Given the description of an element on the screen output the (x, y) to click on. 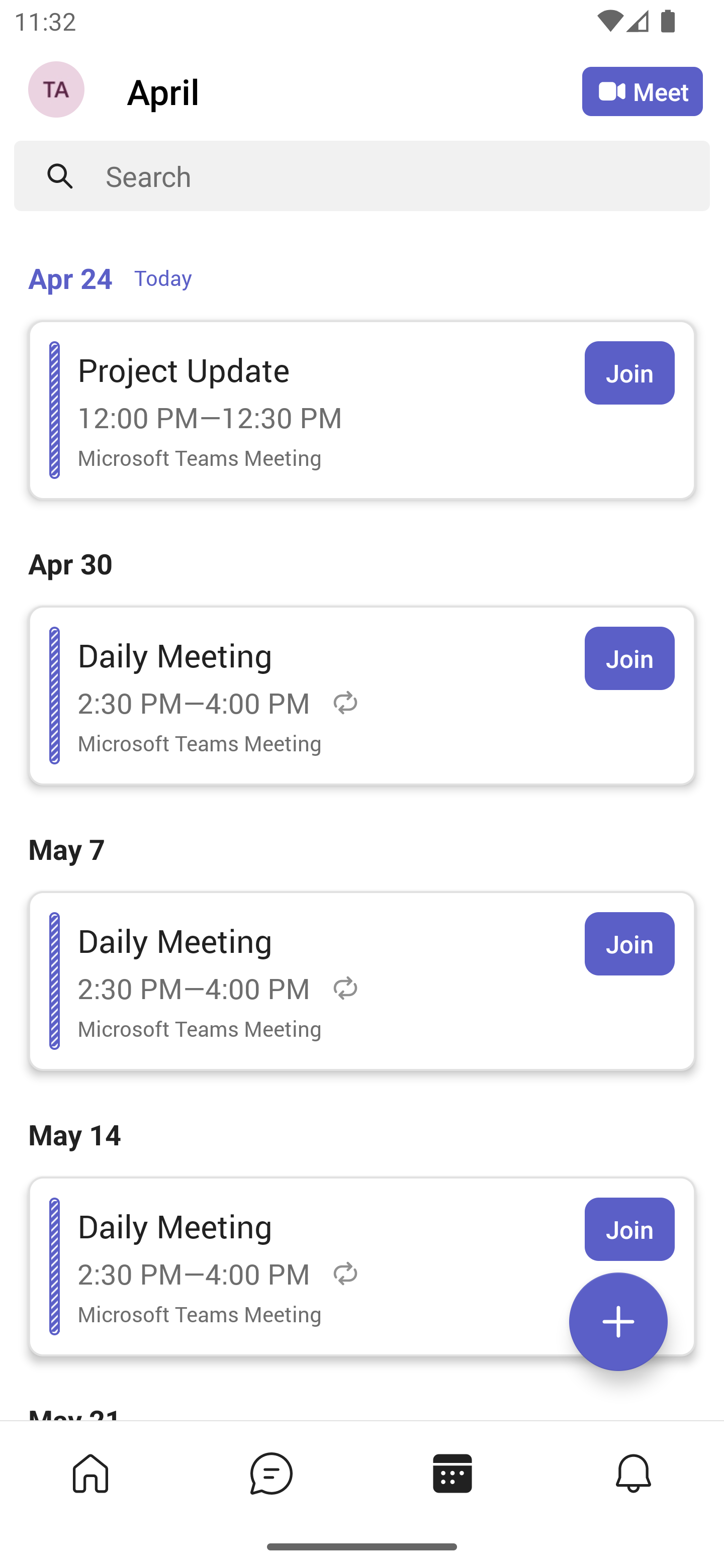
Navigation (58, 91)
Meet Meet now or join with an ID (642, 91)
April April Calendar Agenda View (354, 90)
Search (407, 176)
Join (629, 372)
Join (629, 658)
Join (629, 943)
Join (629, 1228)
Expand meetings menu (618, 1321)
Home tab,1 of 4, not selected (90, 1472)
Chat tab,2 of 4, not selected (271, 1472)
Calendar tab, 3 of 4 (452, 1472)
Activity tab,4 of 4, not selected (633, 1472)
